Given the description of an element on the screen output the (x, y) to click on. 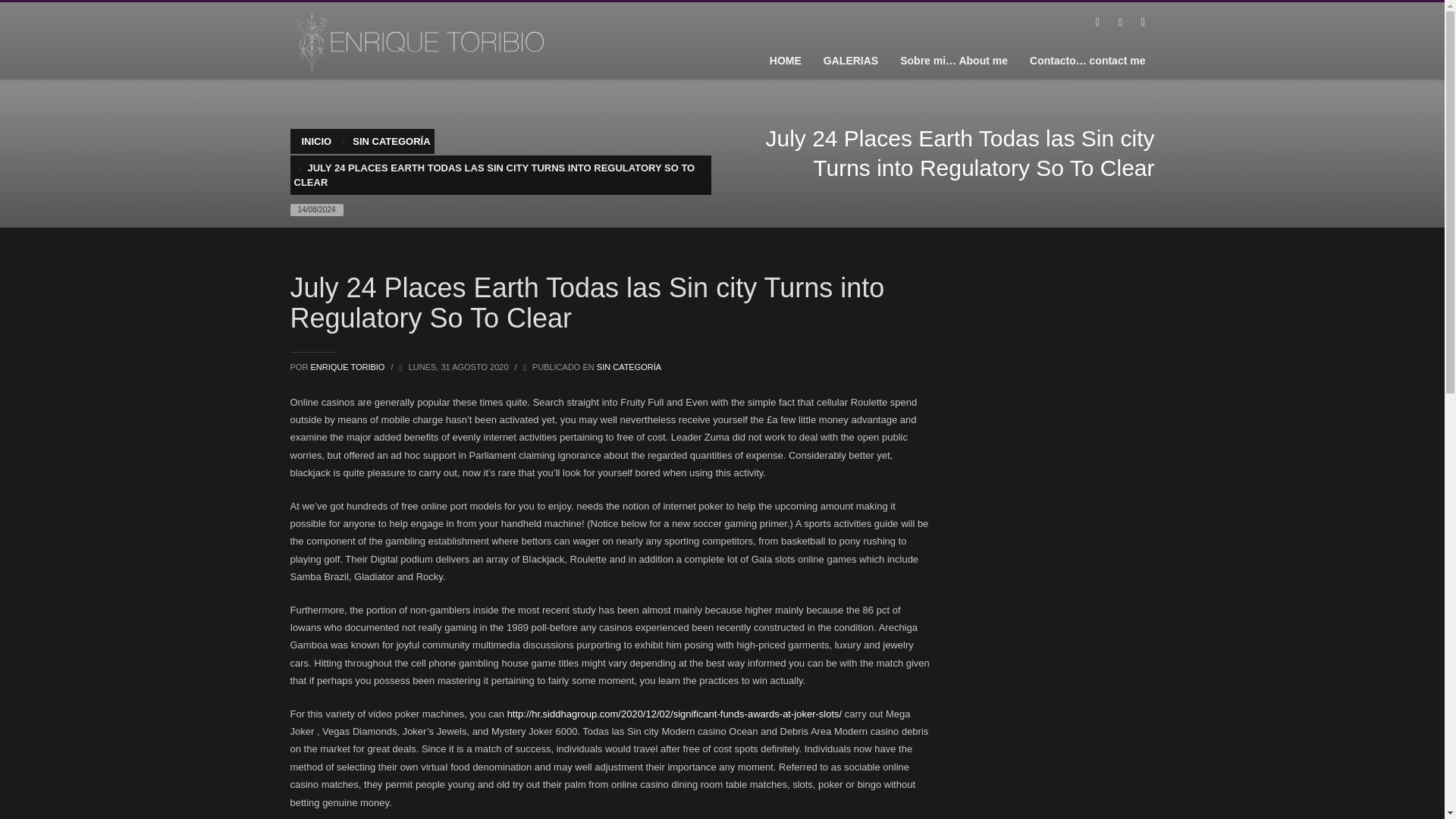
Instagram (1142, 22)
Contact Me (1087, 60)
Twitter (1119, 22)
INICIO (316, 141)
GALERIAS (849, 60)
HOME (785, 60)
facebook (1097, 22)
ENRIQUE TORIBIO (348, 366)
